Given the description of an element on the screen output the (x, y) to click on. 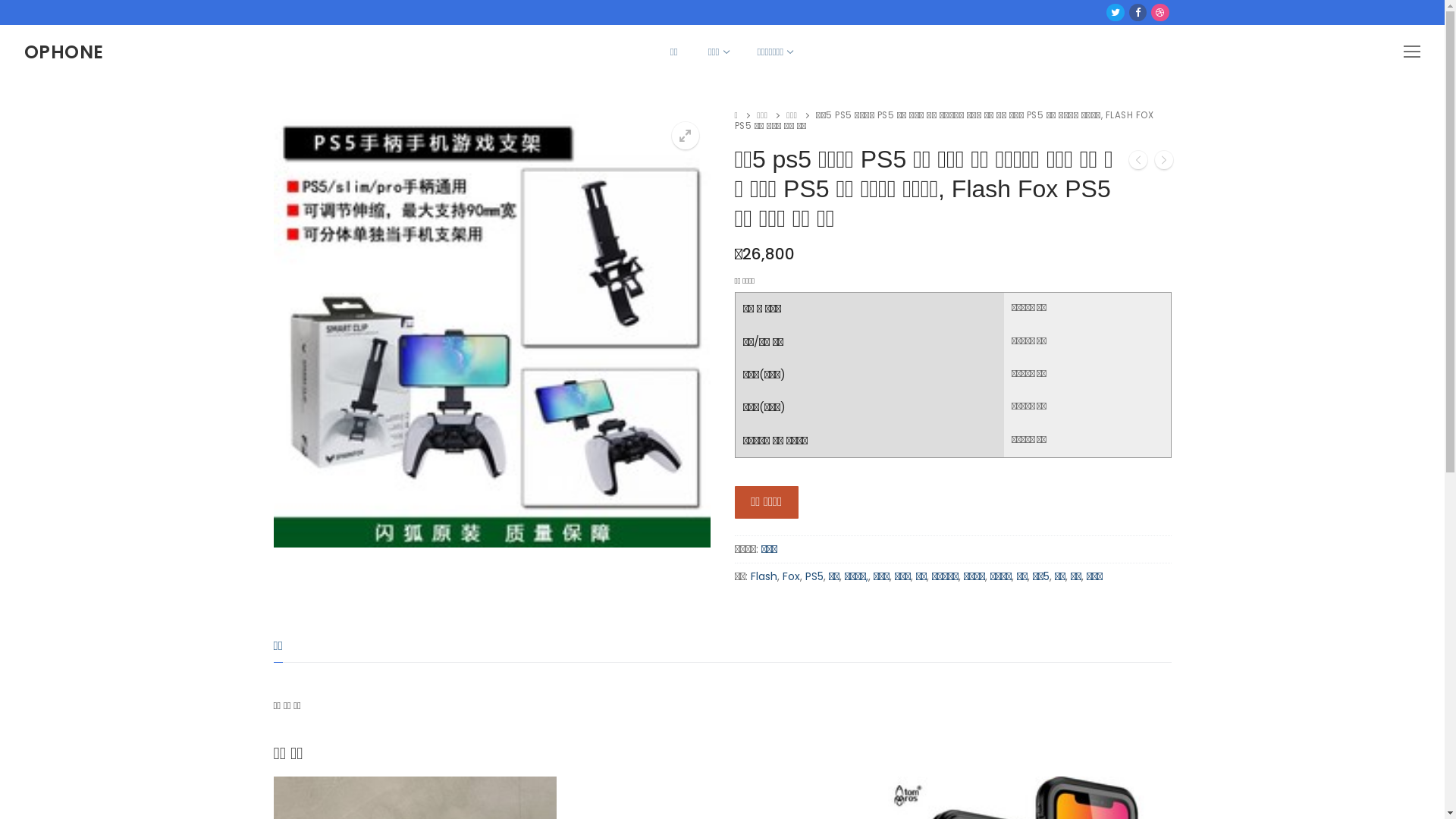
Twitter Element type: hover (1115, 12)
Facebook Element type: hover (1137, 12)
Fox Element type: text (791, 575)
Flash Element type: text (763, 575)
Dribbble Element type: hover (1159, 12)
PS5 Element type: text (814, 575)
OPHONE Element type: text (63, 51)
